Given the description of an element on the screen output the (x, y) to click on. 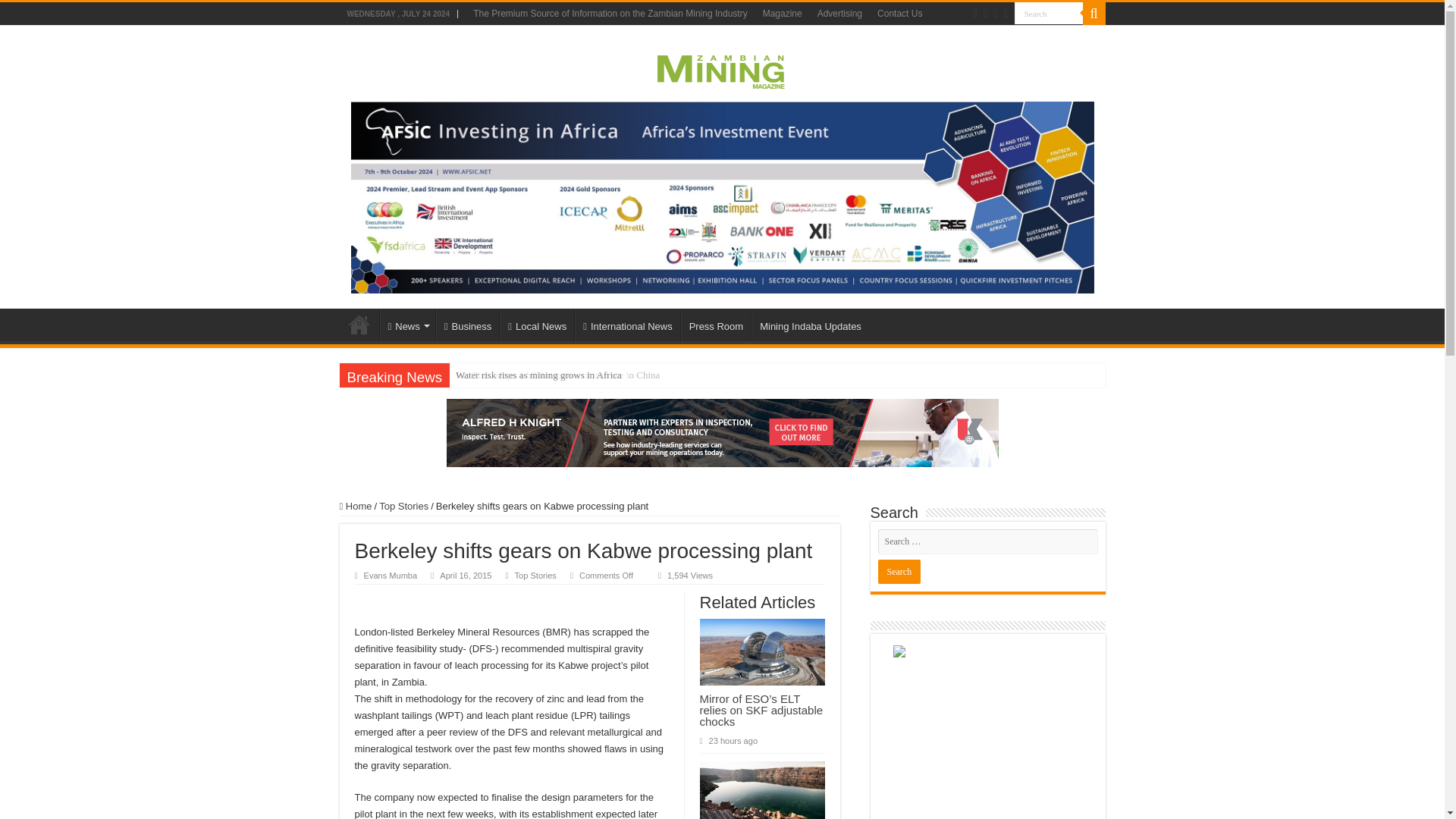
Search (1048, 13)
Zambian Mining News (722, 67)
Search (899, 571)
Home (358, 324)
Search (1048, 13)
Contact Us (899, 13)
Search (899, 571)
Magazine (782, 13)
Search (1048, 13)
Advertising (839, 13)
News (405, 324)
Search (1094, 13)
